Given the description of an element on the screen output the (x, y) to click on. 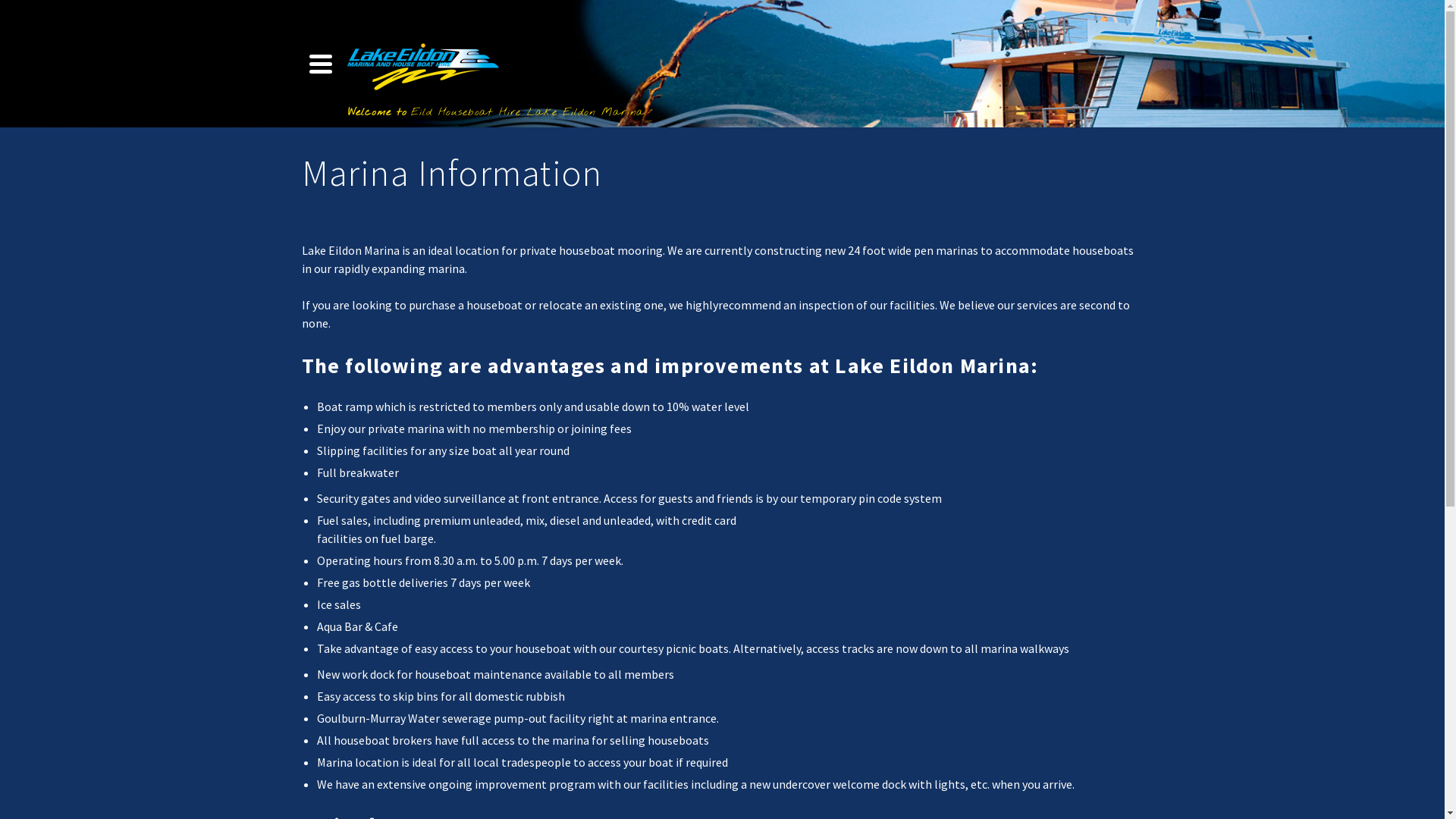
Eild Houseboat Hire Lake Eildon Marina Element type: text (422, 63)
